Given the description of an element on the screen output the (x, y) to click on. 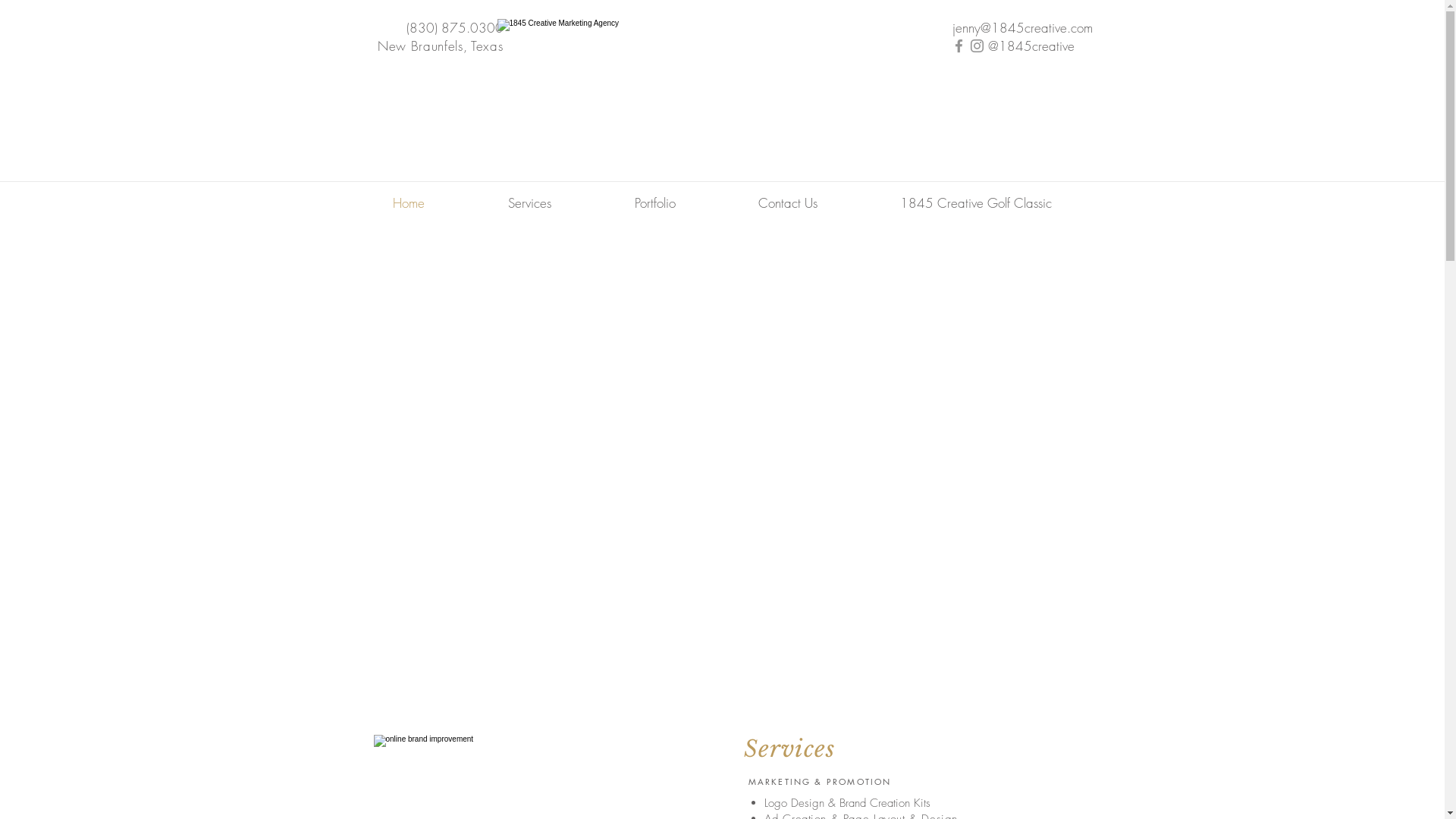
1845 Creative Golf Classic Element type: text (975, 202)
jenny@1845creative.com Element type: text (1022, 27)
Portfolio Element type: text (655, 202)
Contact Us Element type: text (788, 202)
Home Element type: text (407, 202)
Services Element type: text (528, 202)
